Given the description of an element on the screen output the (x, y) to click on. 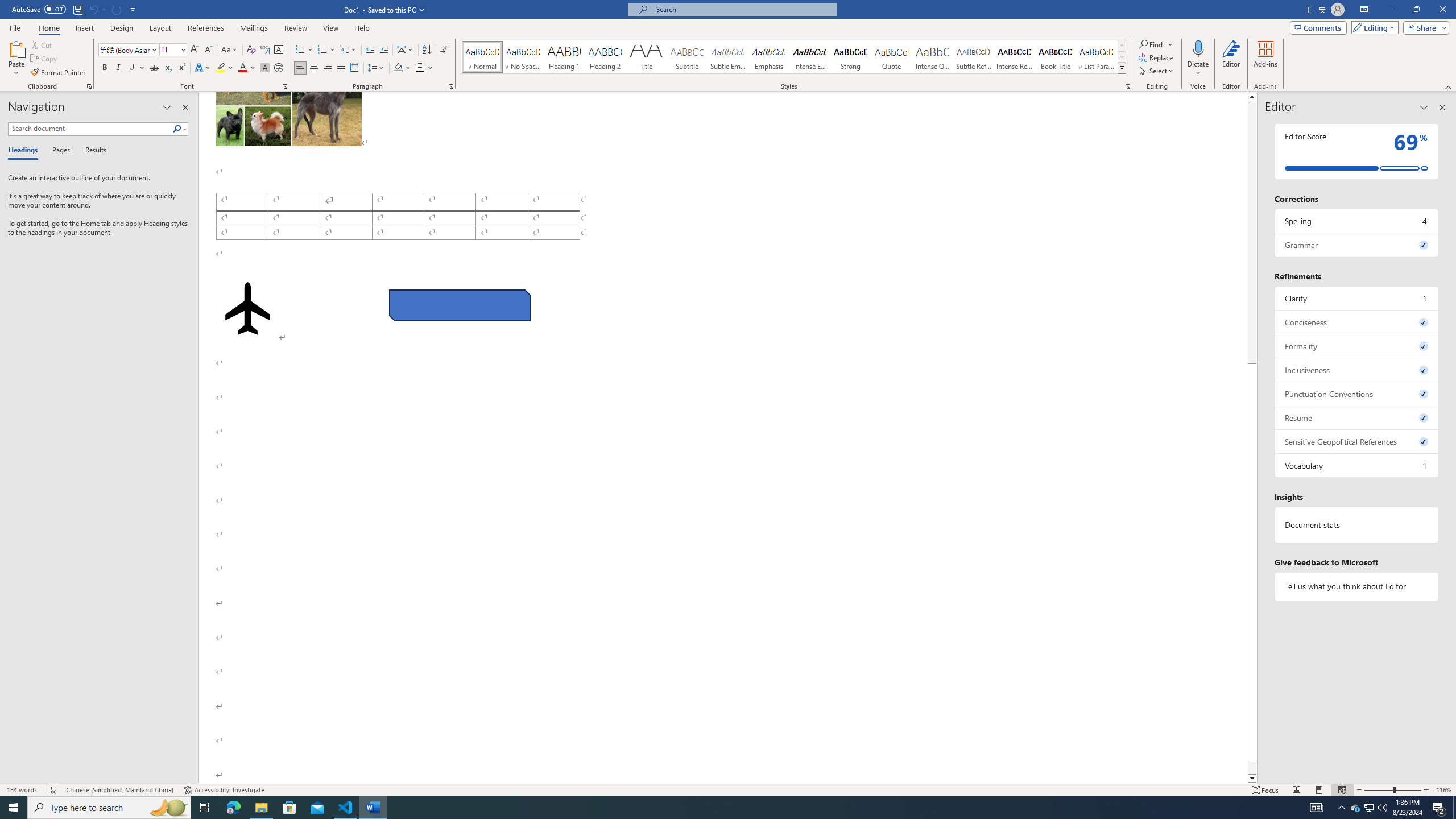
Formality, 0 issues. Press space or enter to review items. (1356, 345)
Subtle Emphasis (727, 56)
